Given the description of an element on the screen output the (x, y) to click on. 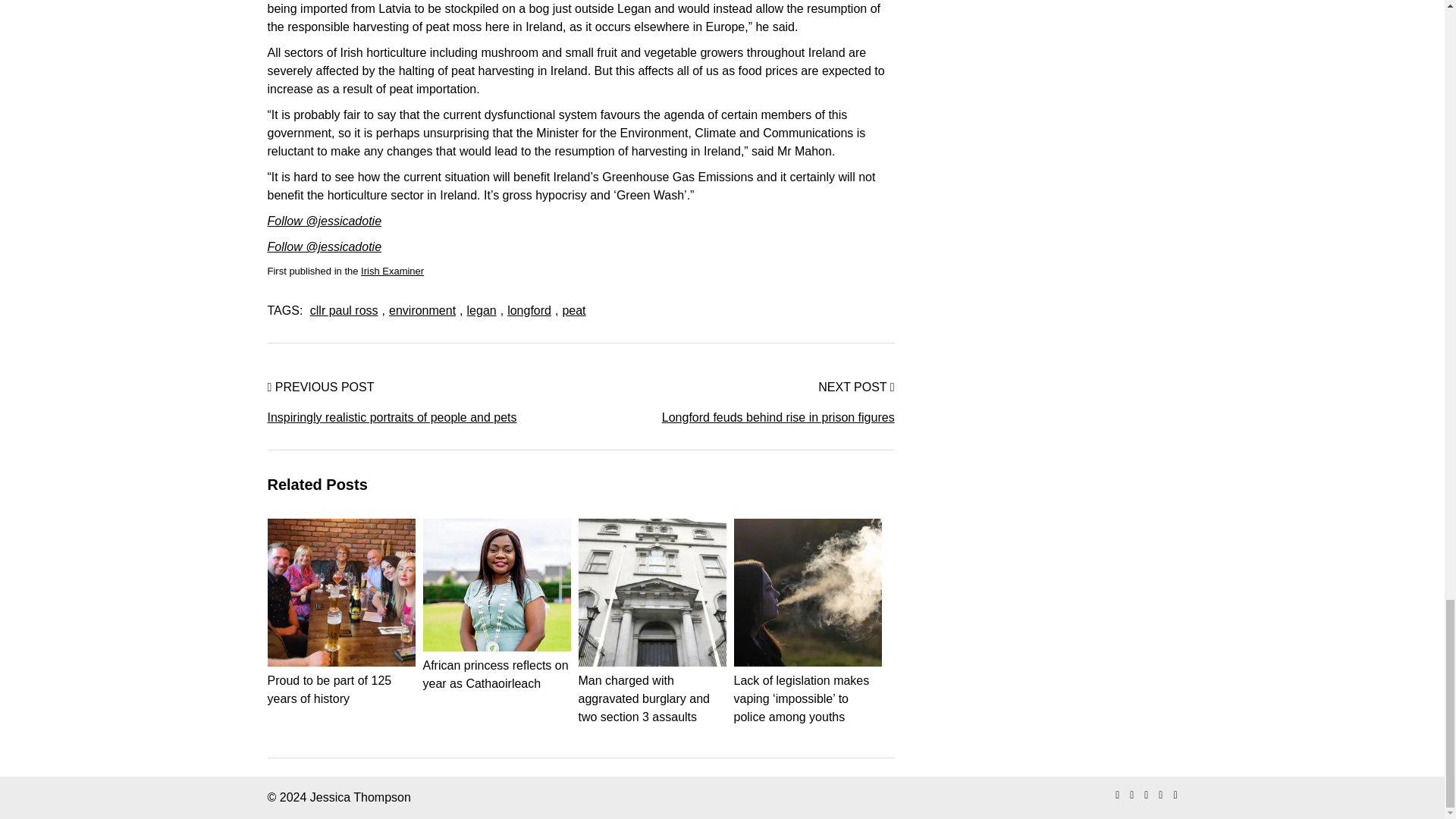
Irish Examiner (392, 270)
Proud to be part of 125 years of history (340, 680)
African princess reflects on year as Cathaoirleach (496, 665)
Inspiringly realistic portraits of people and pets (423, 417)
African princess reflects on year as Cathaoirleach (496, 665)
Longford feuds behind rise in prison figures (737, 417)
environment (421, 309)
peat (573, 309)
longford (528, 309)
legan (481, 309)
